Given the description of an element on the screen output the (x, y) to click on. 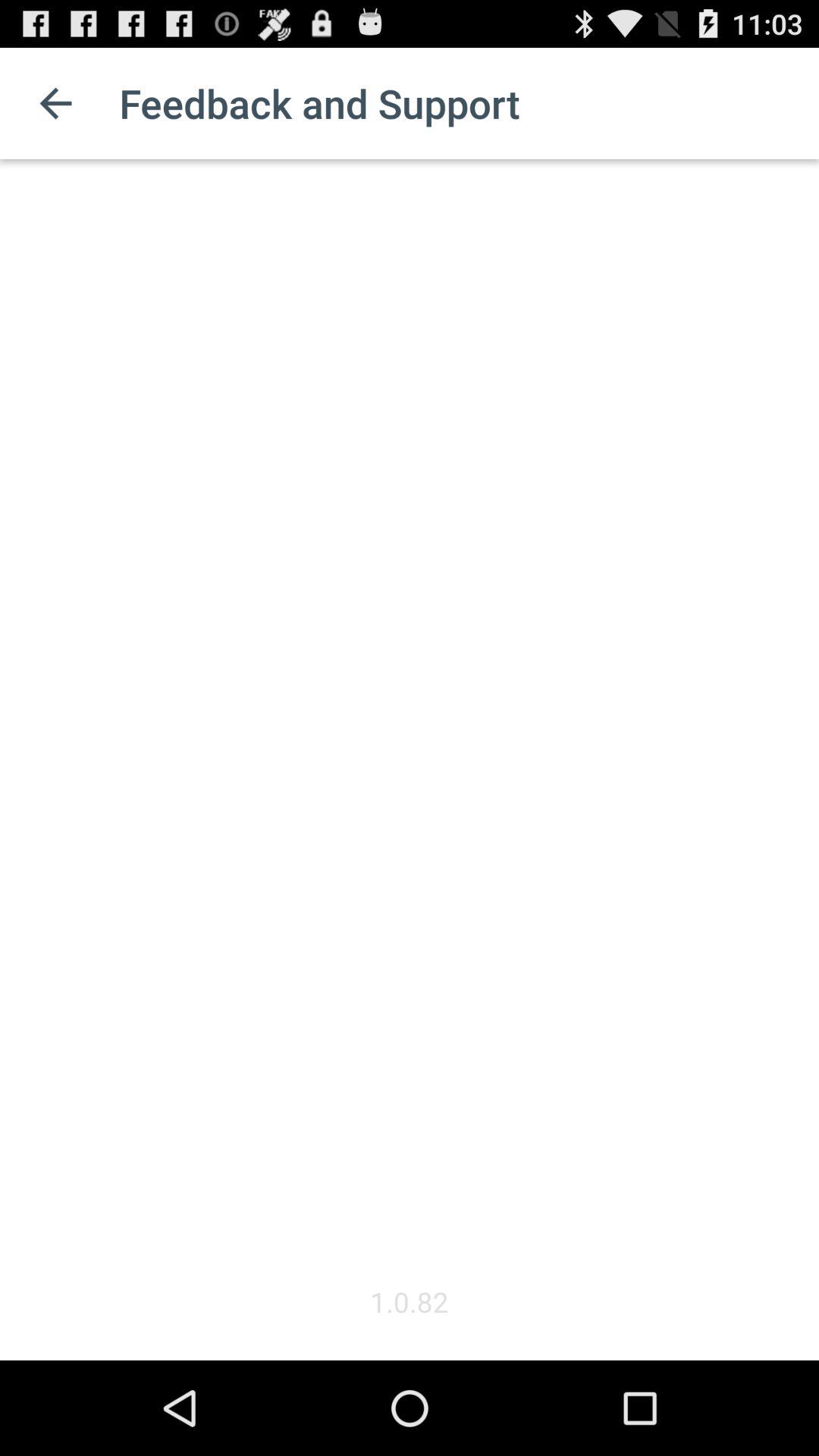
turn off icon at the top left corner (55, 103)
